Given the description of an element on the screen output the (x, y) to click on. 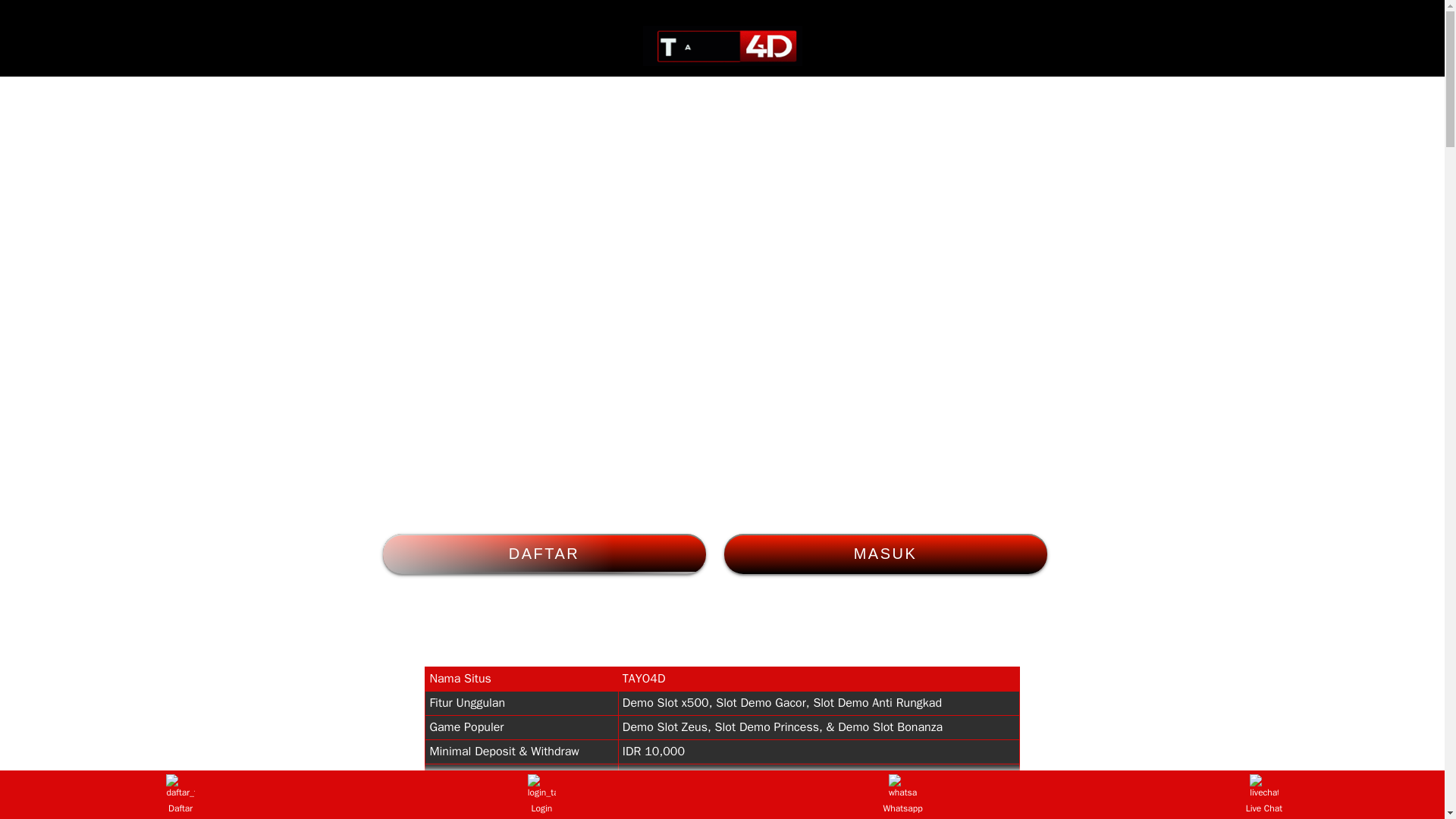
MASUK (884, 553)
slot demo (722, 45)
DAFTAR (542, 553)
